Given the description of an element on the screen output the (x, y) to click on. 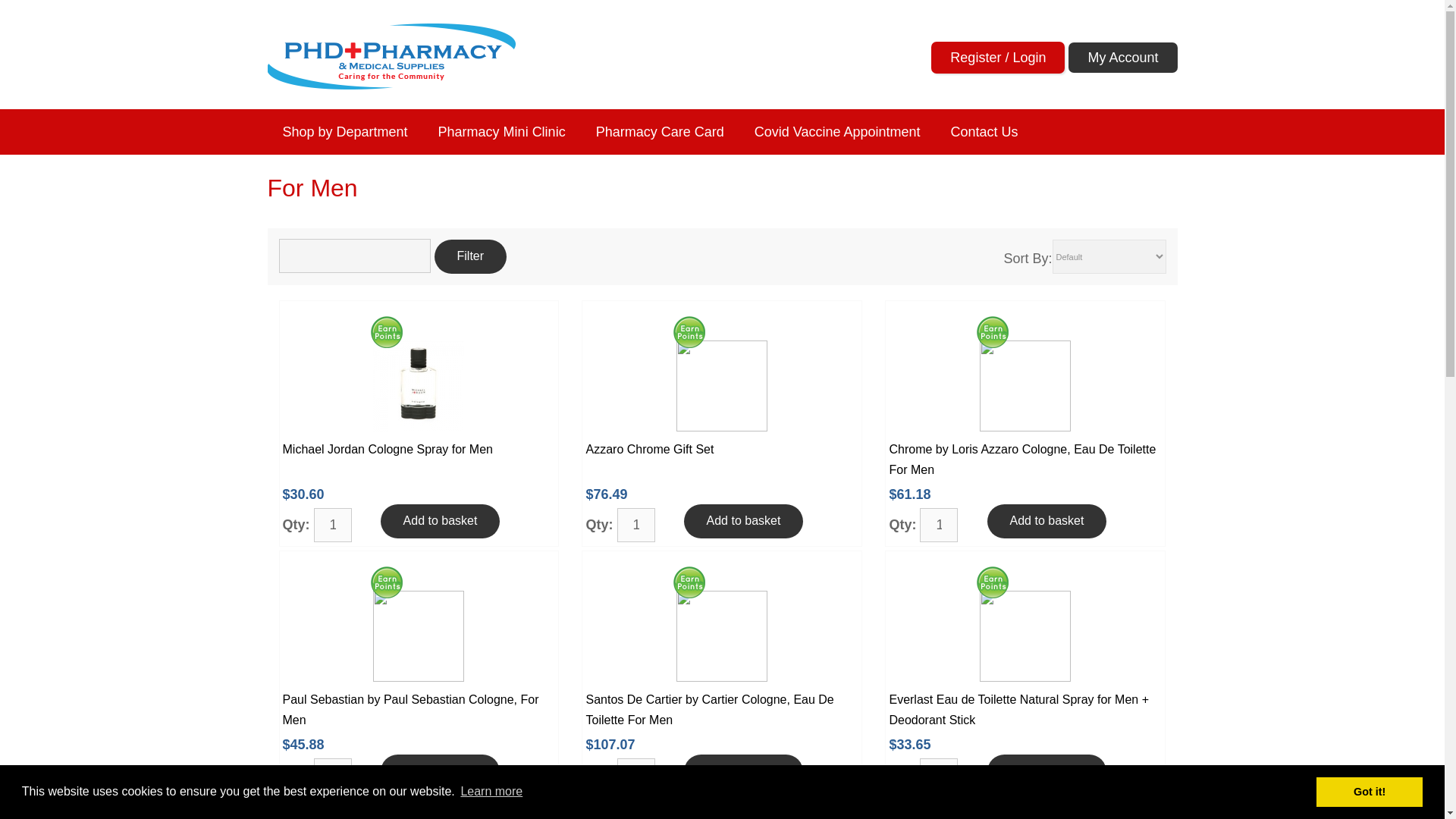
Add to Cart (743, 521)
Add to Cart (440, 521)
1 (939, 775)
Add to Cart (1046, 521)
Add to Cart (743, 771)
Add to Cart (440, 771)
Learn more (491, 791)
1 (636, 775)
1 (939, 524)
Add to Cart (1046, 771)
Got it! (1369, 791)
1 (333, 775)
1 (636, 524)
Shop by Department (344, 144)
1 (333, 524)
